Given the description of an element on the screen output the (x, y) to click on. 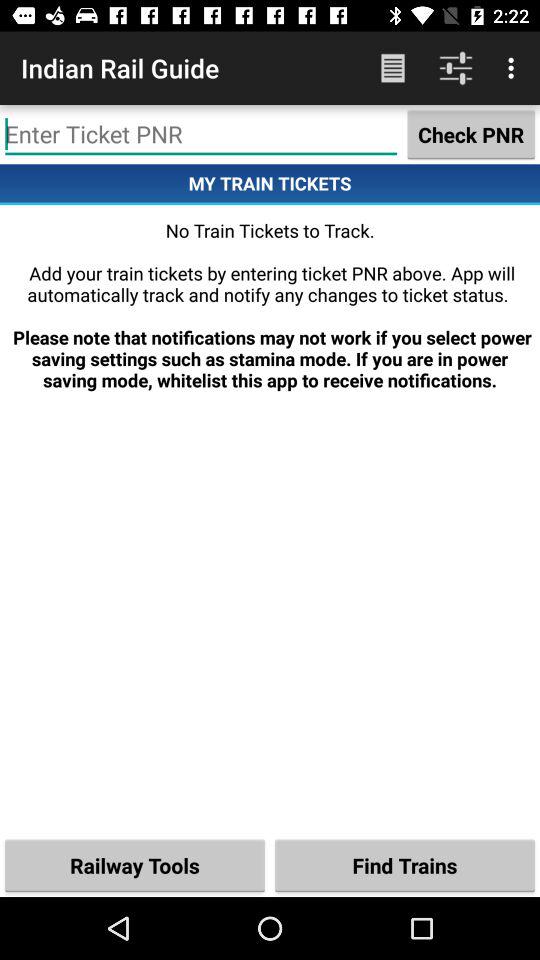
option to text typing (201, 134)
